Given the description of an element on the screen output the (x, y) to click on. 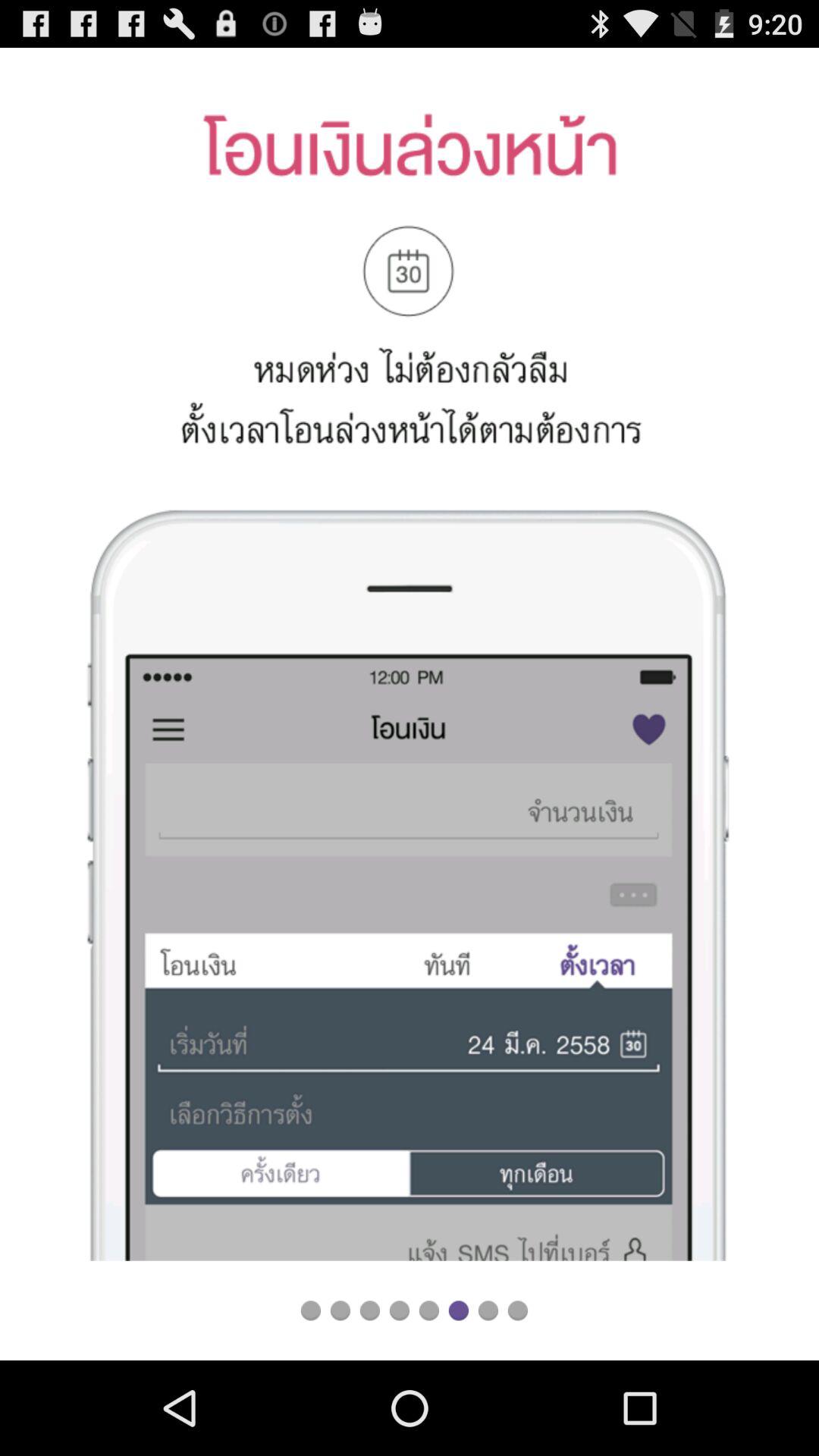
go to secant page (340, 1310)
